Given the description of an element on the screen output the (x, y) to click on. 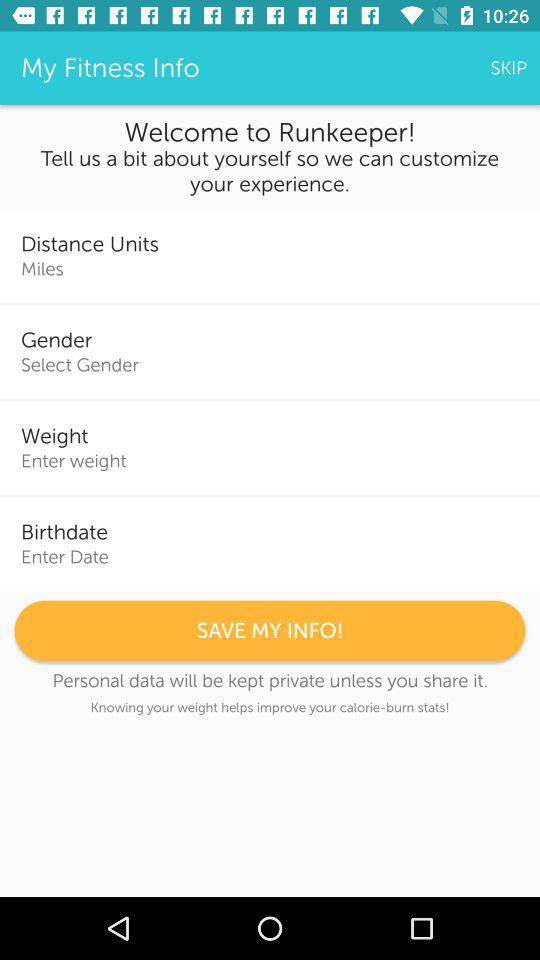
tap app next to my fitness info item (508, 67)
